Given the description of an element on the screen output the (x, y) to click on. 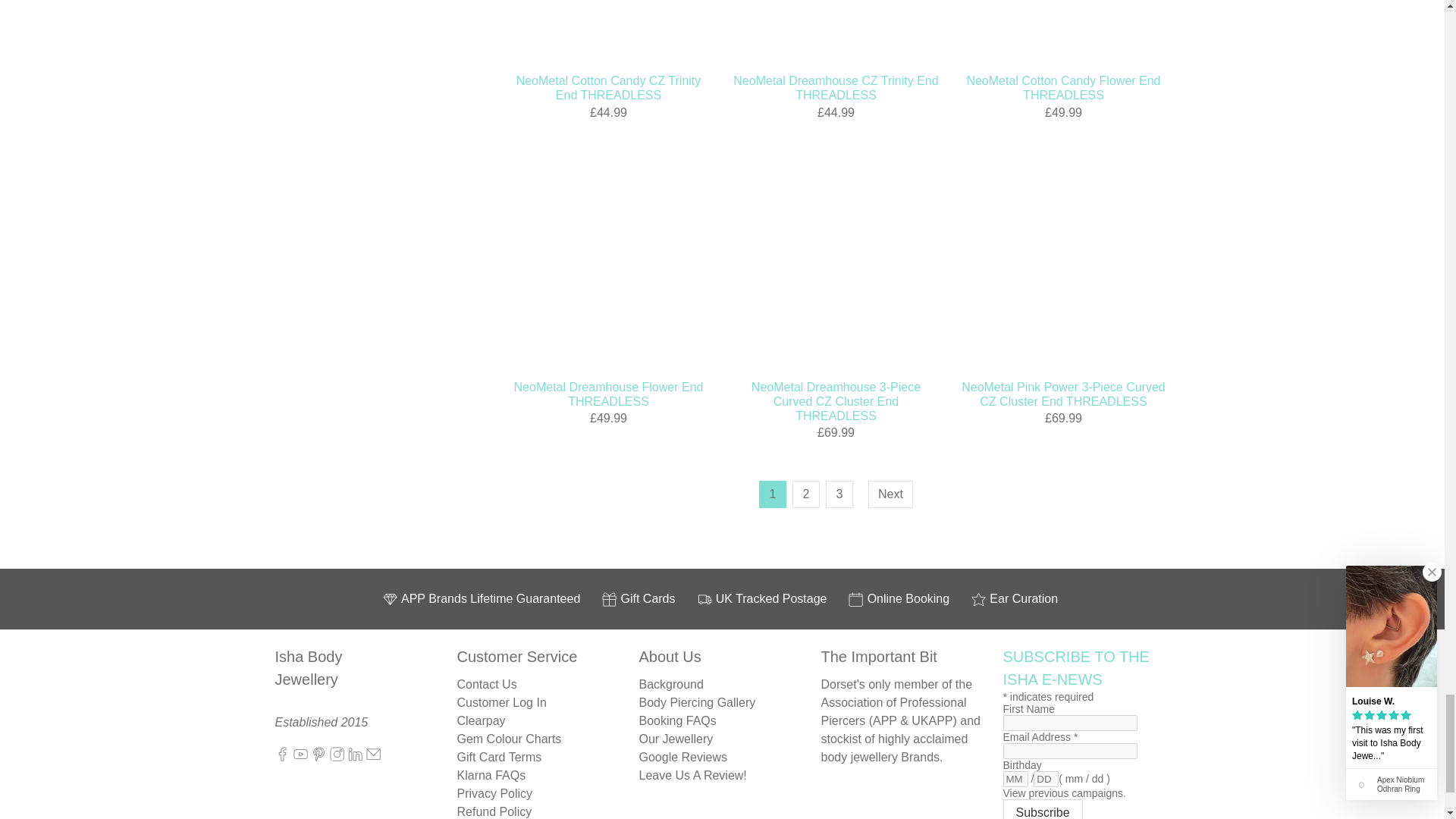
Isha Body Jewellery on Facebook (281, 757)
View previous campaigns (1064, 793)
Subscribe (1042, 809)
Isha Body Jewellery on YouTube (300, 757)
Isha Body Jewellery (324, 679)
Isha Body Jewellery on Instagram (336, 757)
Isha Body Jewellery on LinkedIn (354, 757)
Email Isha Body Jewellery (373, 757)
Isha Body Jewellery on Pinterest (318, 757)
